Given the description of an element on the screen output the (x, y) to click on. 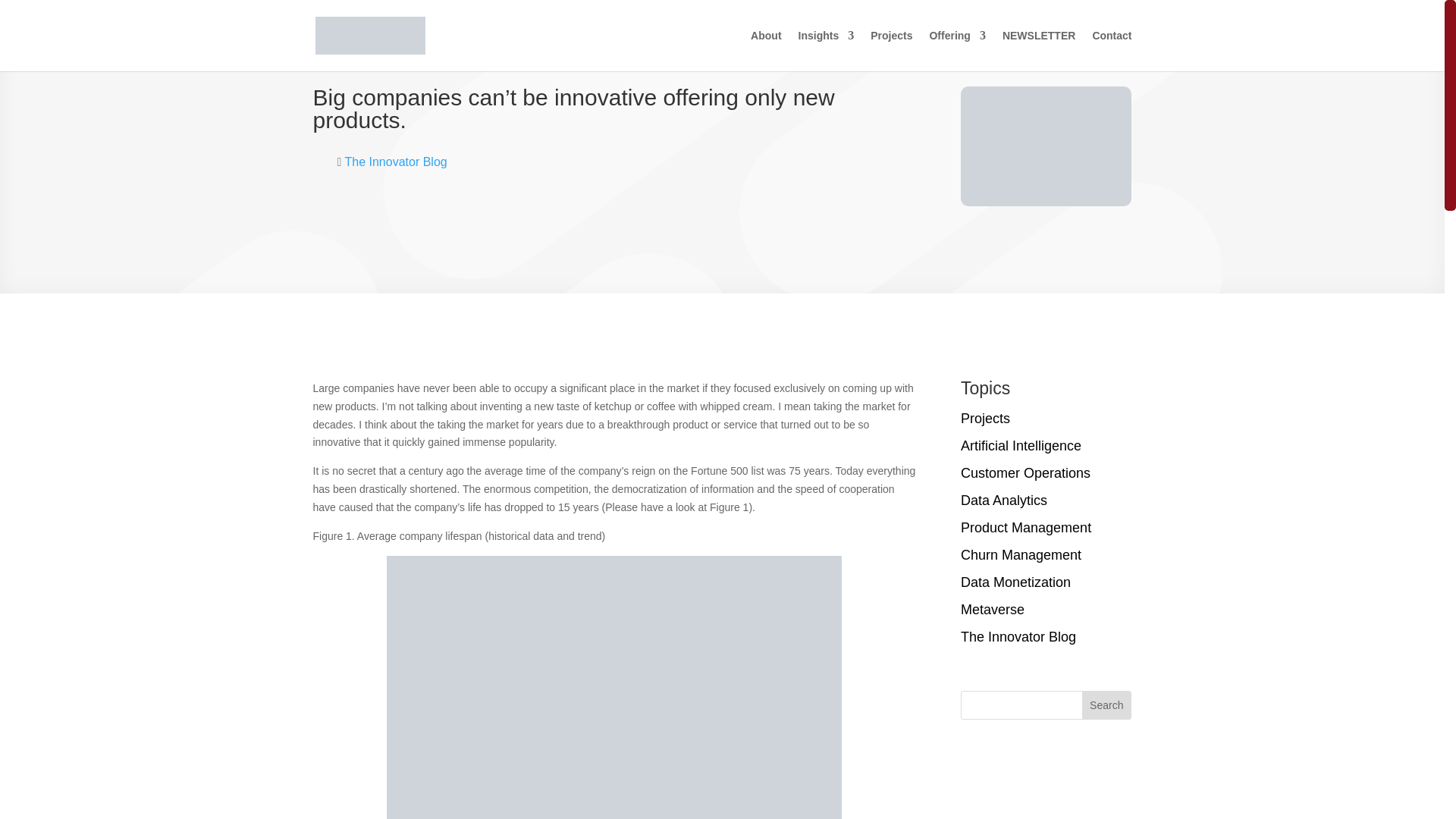
Artificial Intelligence (1020, 445)
The Innovator Blog (1017, 636)
Insights (825, 43)
Customer Operations (1025, 473)
About (765, 43)
NEWSLETTER (1039, 43)
Search (1106, 705)
Data Monetization (1015, 581)
Offering (956, 43)
Metaverse (992, 609)
